Given the description of an element on the screen output the (x, y) to click on. 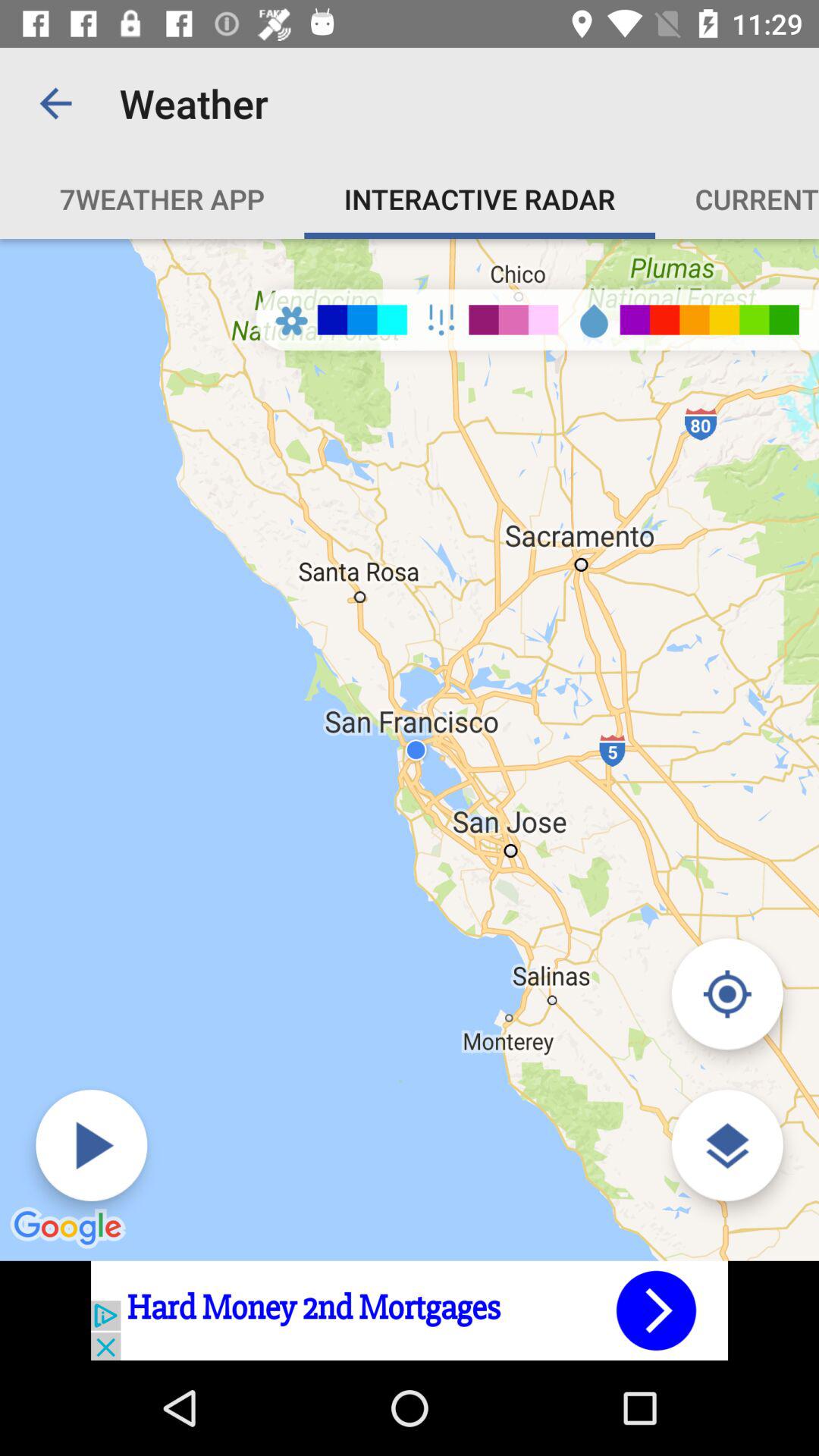
view current location (727, 993)
